Given the description of an element on the screen output the (x, y) to click on. 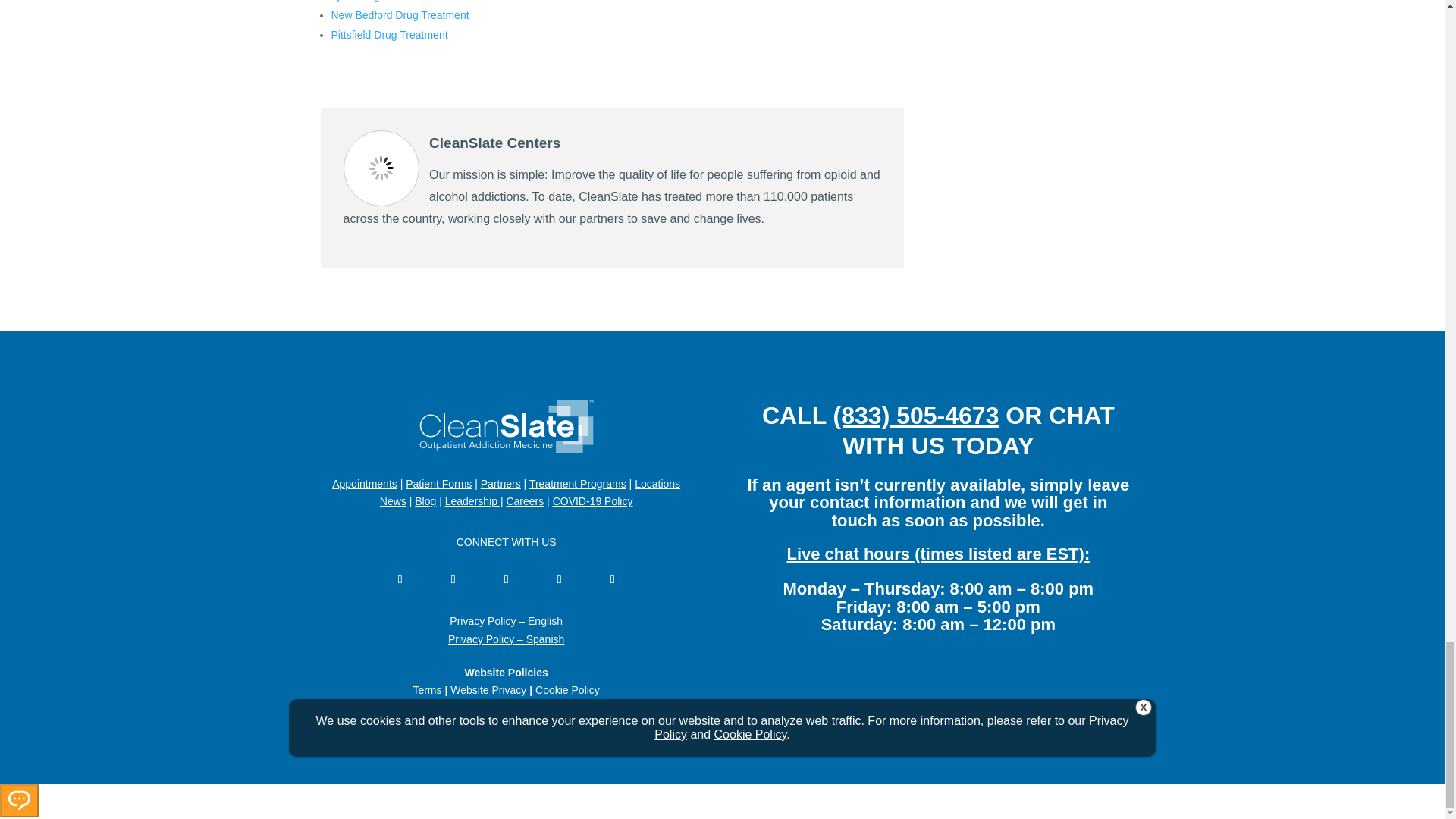
Follow on X (453, 579)
Follow on Facebook (400, 579)
cleanslate-logo-white (506, 426)
Follow on TikTok (611, 579)
Follow on Instagram (559, 579)
Follow on LinkedIn (506, 579)
